Given the description of an element on the screen output the (x, y) to click on. 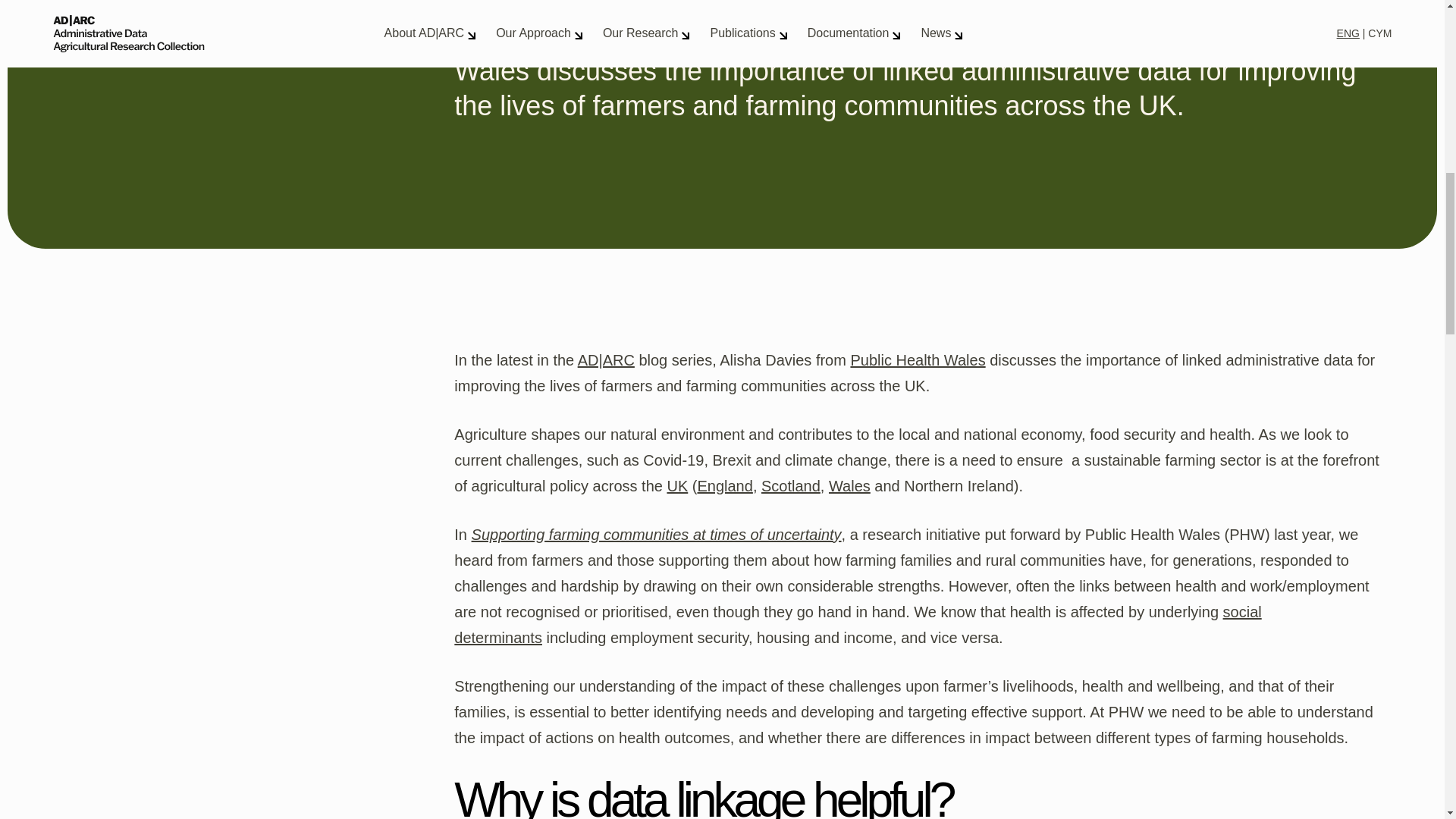
Public Health Wales (917, 360)
Supporting farming communities at times of uncertainty (656, 534)
England (724, 485)
Wales (849, 485)
Scotland (791, 485)
UK (676, 485)
social determinants (857, 624)
